Given the description of an element on the screen output the (x, y) to click on. 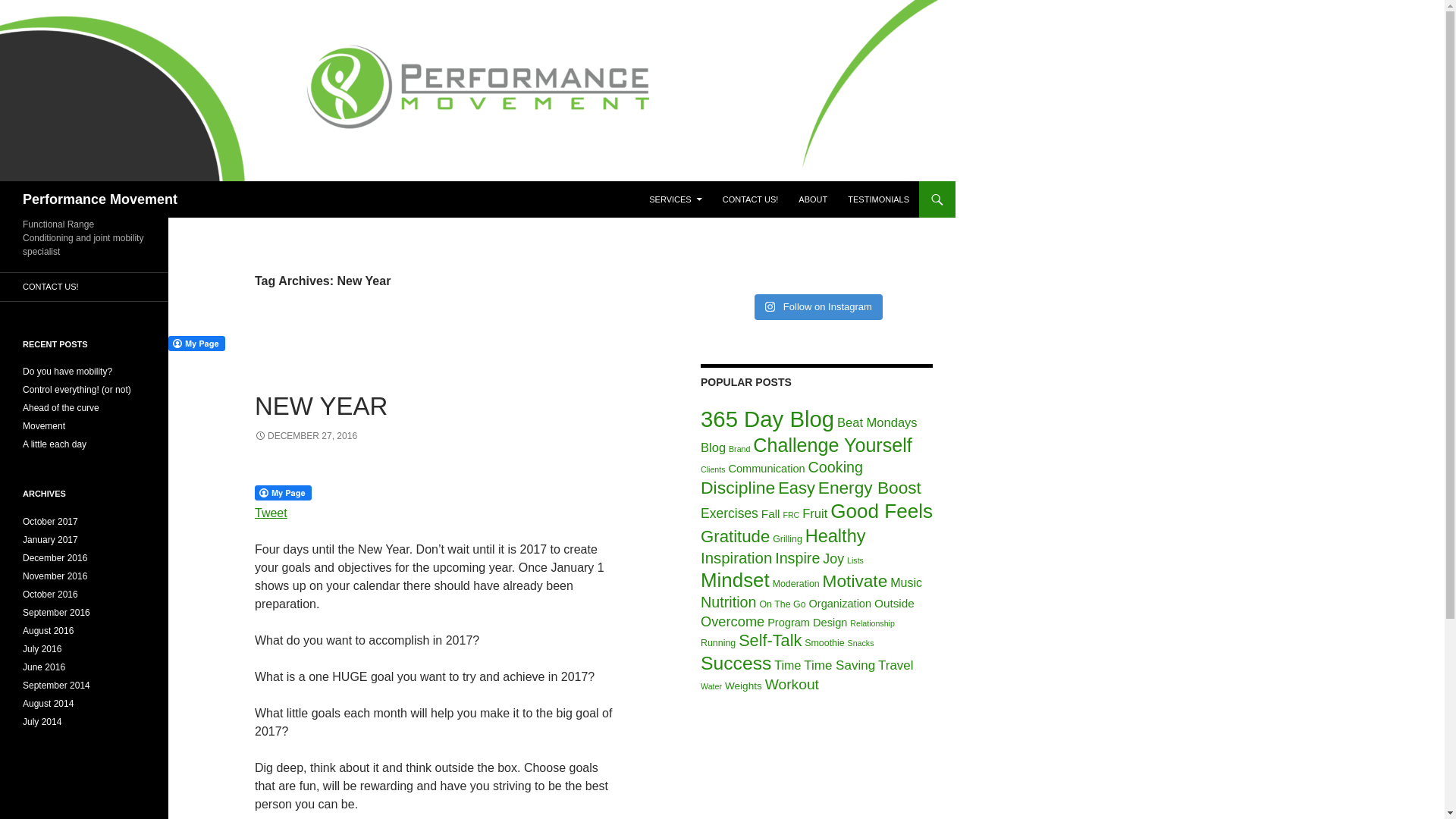
Brand (739, 448)
Cooking (835, 466)
Blog (712, 447)
ABOUT (812, 198)
CONTACT US! (750, 198)
Good Feels (881, 510)
Fruit (814, 513)
Beat Mondays (877, 422)
Follow on Instagram (818, 307)
TESTIMONIALS (878, 198)
Energy Boost (869, 487)
Communication (766, 468)
DECEMBER 27, 2016 (305, 435)
